Given the description of an element on the screen output the (x, y) to click on. 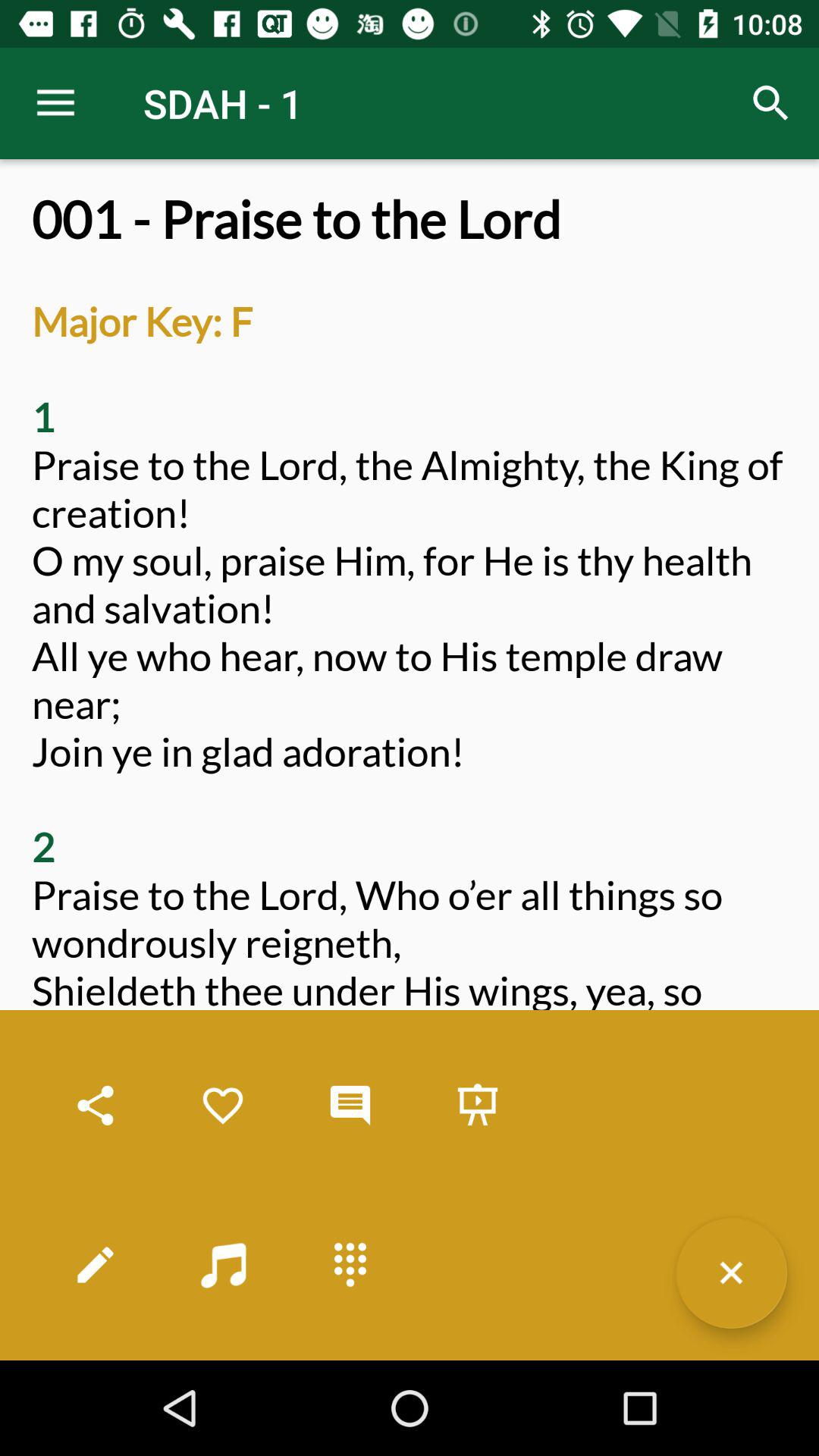
turn on the icon next to the sdah - 1 icon (55, 103)
